Given the description of an element on the screen output the (x, y) to click on. 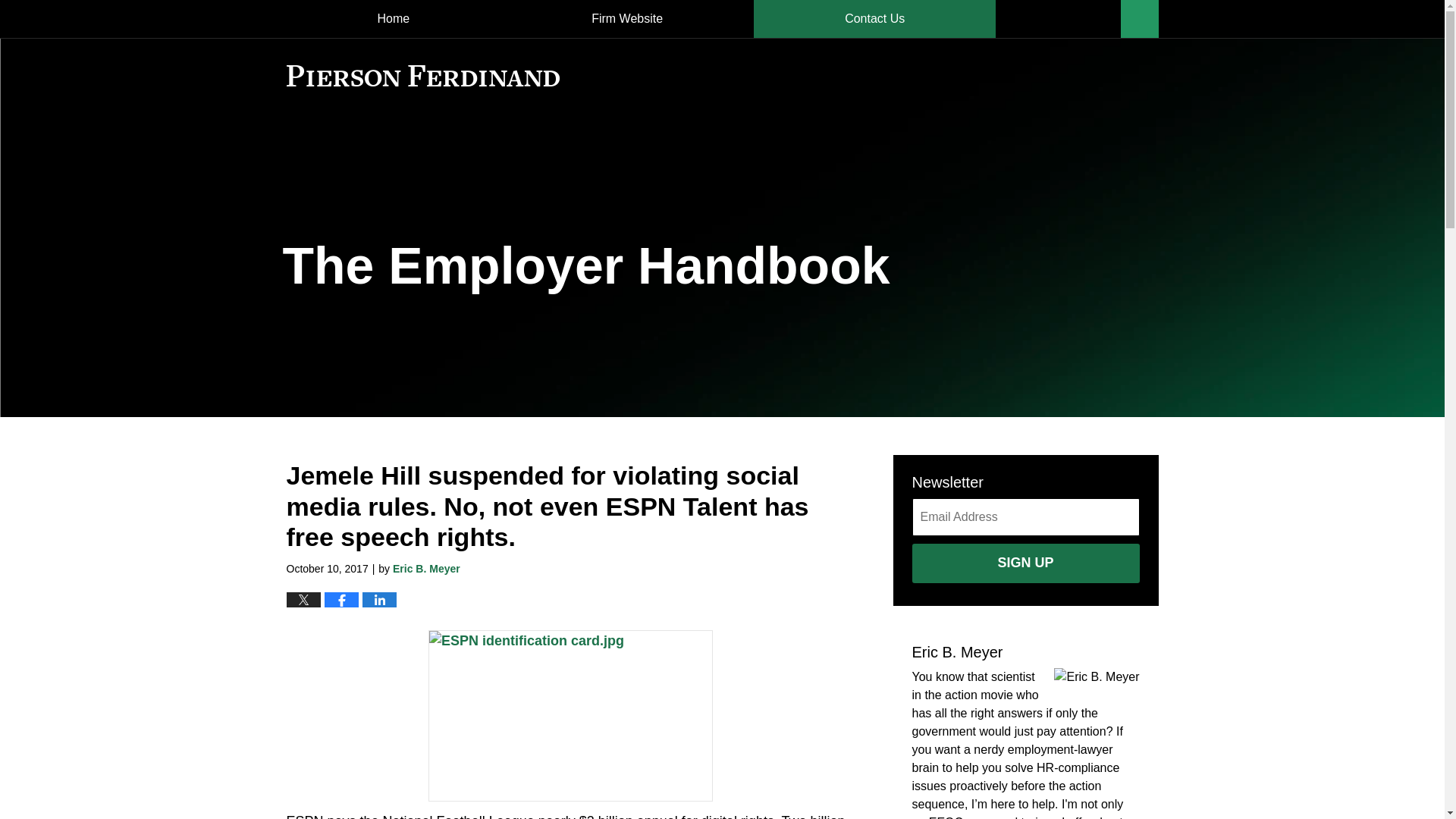
Contact Us (874, 18)
Wikipedia.com (570, 715)
The Employer Handbook (585, 265)
The Employer Handbook Blog (422, 75)
Eric B. Meyer (426, 568)
Firm Website (627, 18)
SIGN UP (1024, 563)
Home (393, 18)
